Given the description of an element on the screen output the (x, y) to click on. 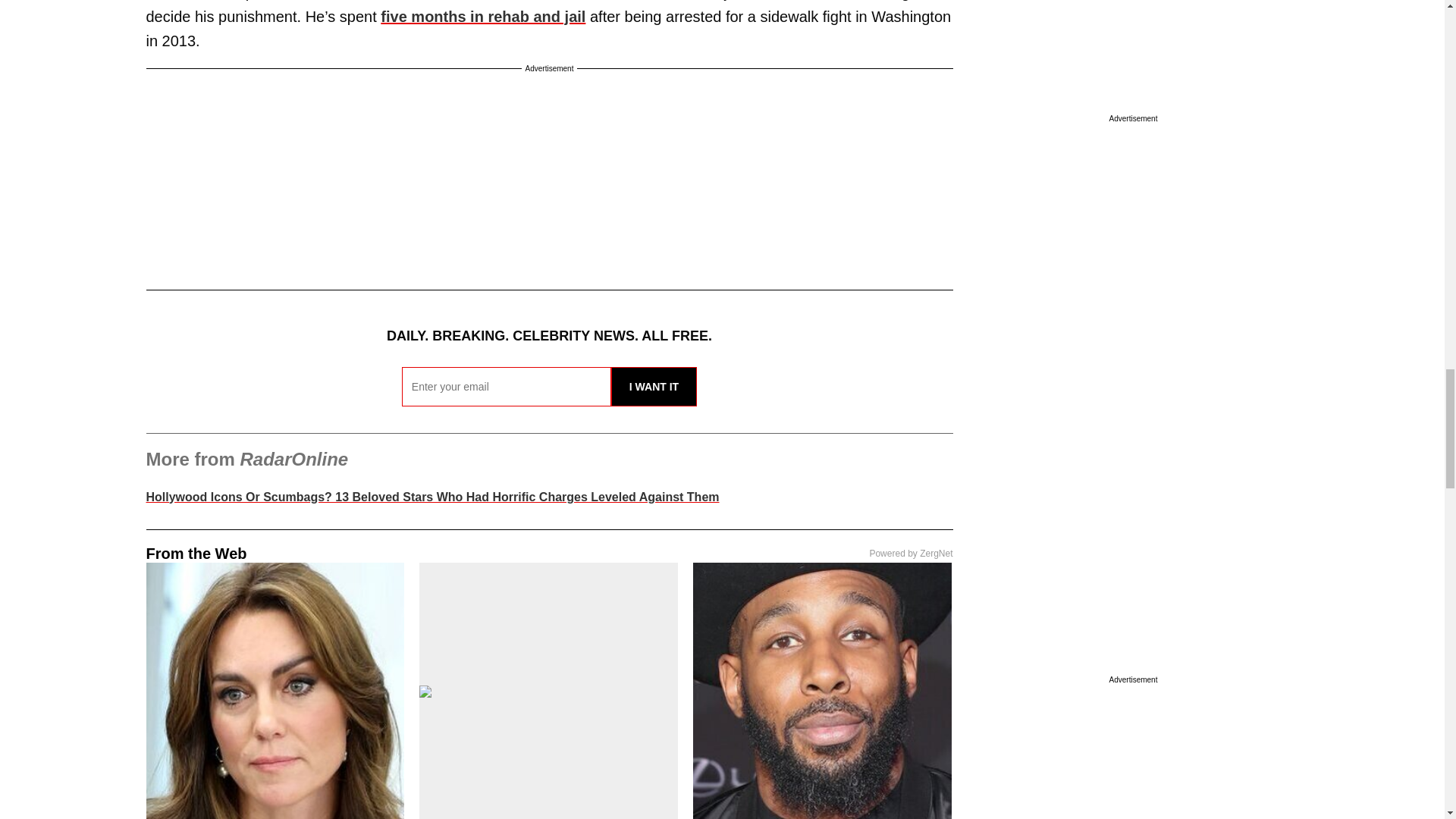
I WANT IT (654, 386)
I WANT IT (654, 386)
Powered by ZergNet (910, 552)
five months in rehab and jail (482, 16)
